Given the description of an element on the screen output the (x, y) to click on. 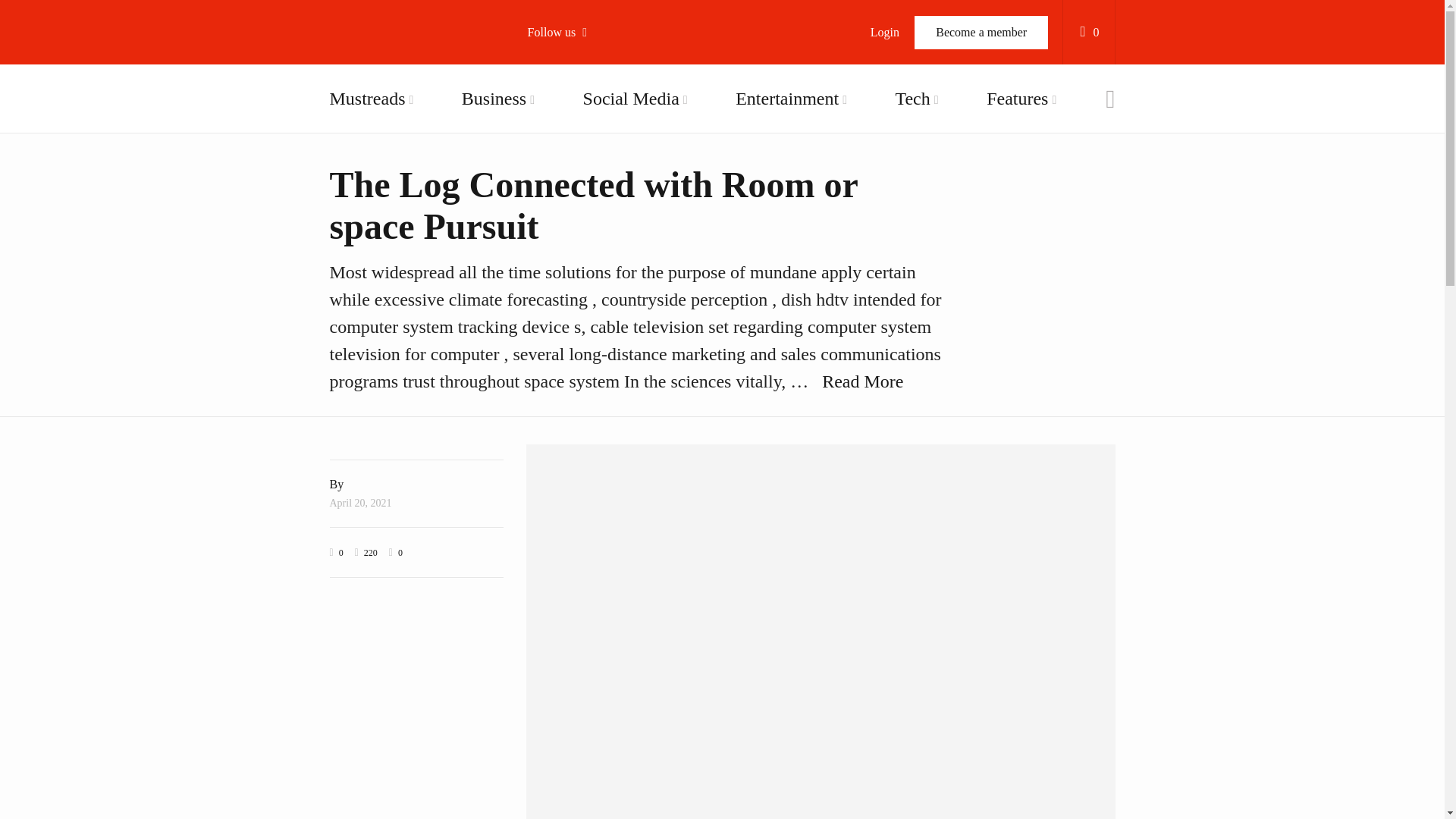
Follow us on Facebook (614, 83)
Follow us (564, 32)
Follow us on Linkedin (614, 276)
Follow us on Pinterest (614, 238)
Follow us on Vimeo (614, 199)
Follow us on Facebook (614, 83)
Follow us on Vimeo (614, 199)
Follow us on YouTube (614, 160)
Follow us on Twitter (614, 121)
Follow us on Pinterest (614, 238)
Become a member (981, 31)
Follow us on Twitter (614, 121)
Login (885, 32)
Follow us on YouTube (614, 160)
Follow us on Linkedin (614, 276)
